Given the description of an element on the screen output the (x, y) to click on. 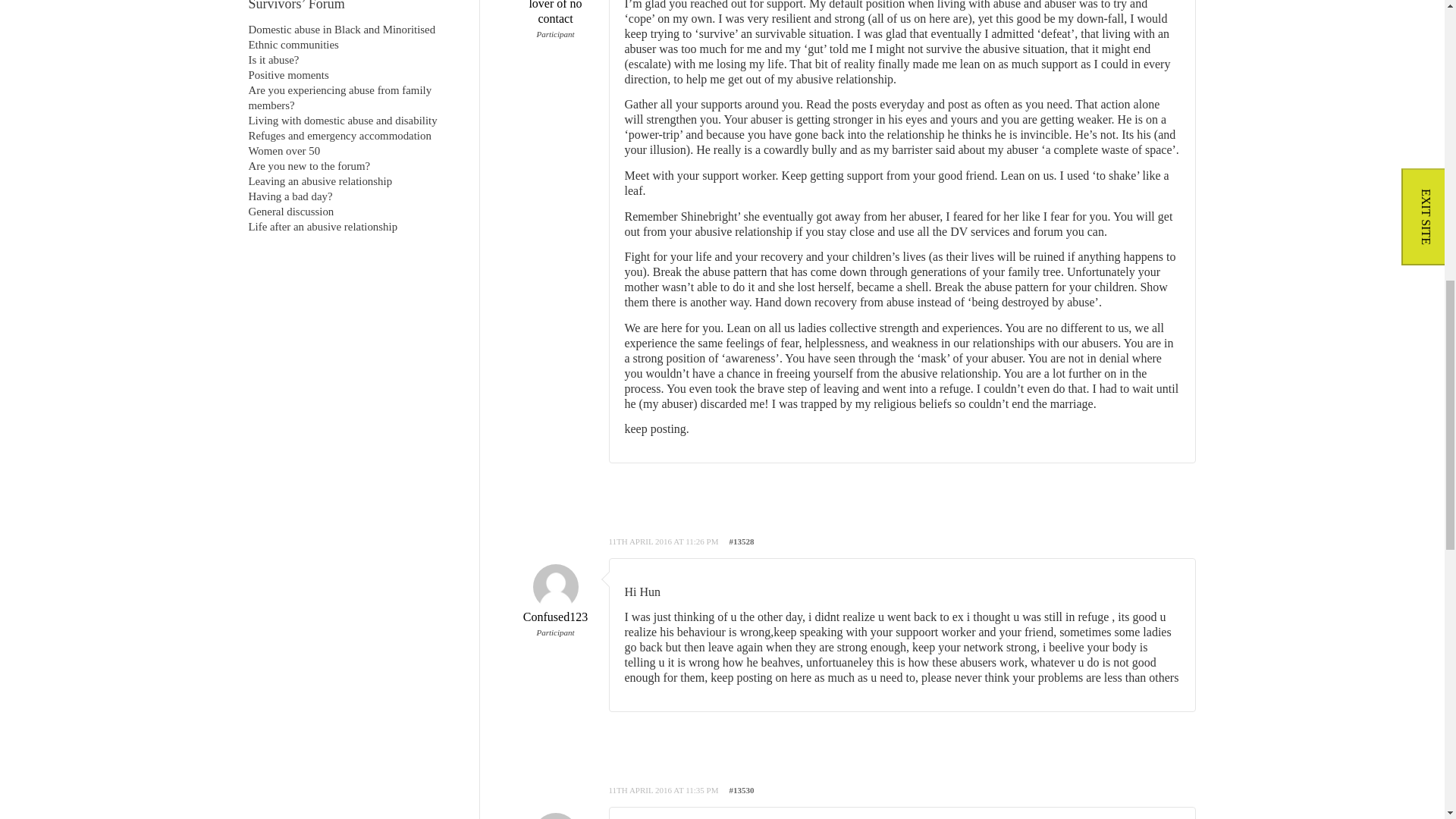
View lover of no contact's profile (554, 12)
lover of no contact (554, 12)
Confused123 (554, 601)
